Given the description of an element on the screen output the (x, y) to click on. 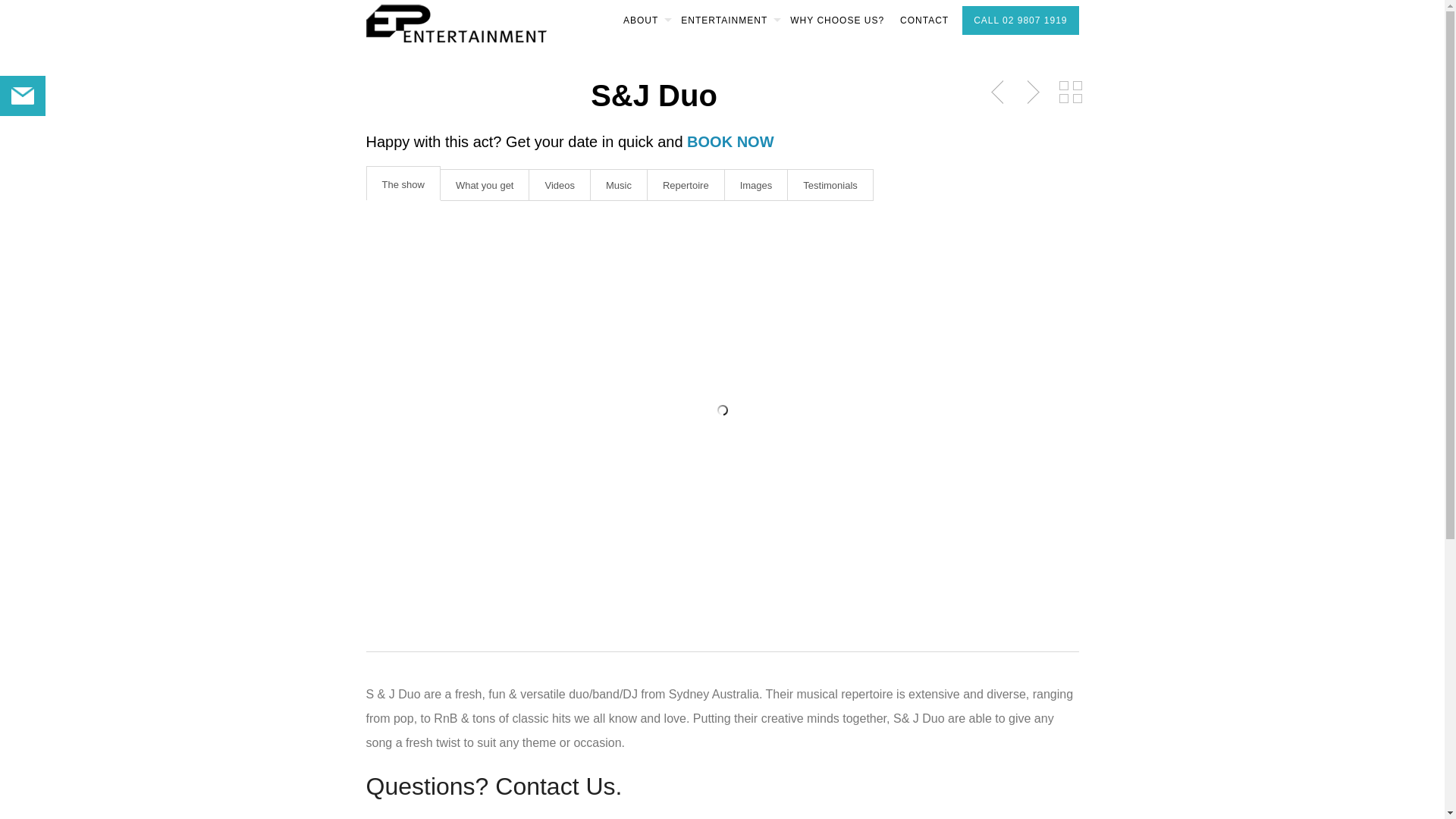
Music Element type: text (618, 184)
S&J Duo - Sydney wedding Duo Element type: hover (721, 409)
BOOK NOW Element type: text (730, 141)
The show Element type: text (402, 183)
CALL 02 9807 1919 Element type: text (1020, 20)
Videos Element type: text (559, 184)
CONTACT Element type: text (923, 20)
What you get Element type: text (485, 184)
Images Element type: text (756, 184)
Previous Post Element type: text (998, 92)
Repertoire Element type: text (685, 184)
ABOUT Element type: text (644, 20)
Back to Portfolio Element type: text (1069, 92)
WHY CHOOSE US? Element type: text (836, 20)
Testimonials Element type: text (830, 184)
ENTERTAINMENT Element type: text (727, 20)
Next Post Element type: text (1030, 92)
